Given the description of an element on the screen output the (x, y) to click on. 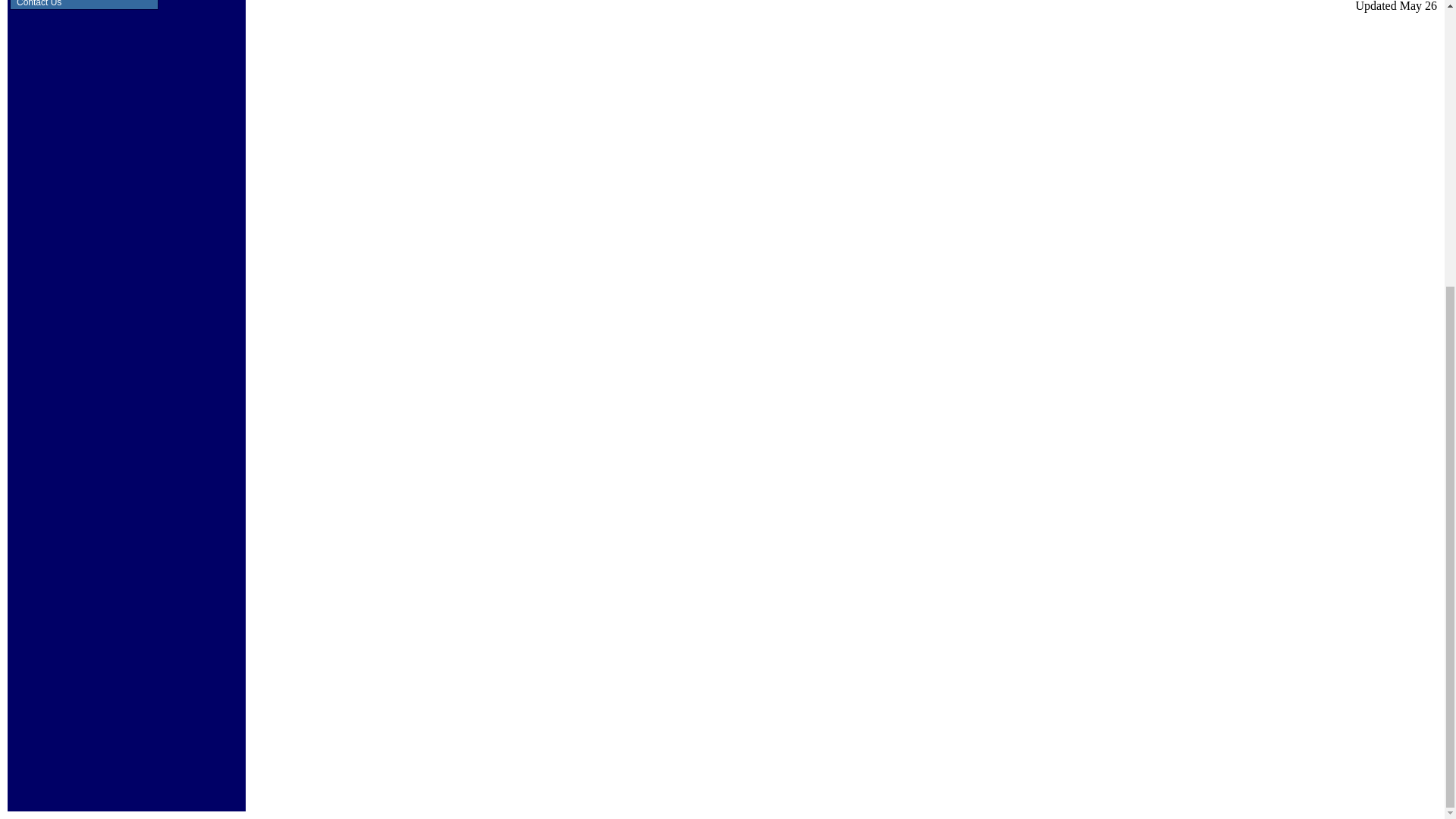
Contact Us (84, 4)
